Given the description of an element on the screen output the (x, y) to click on. 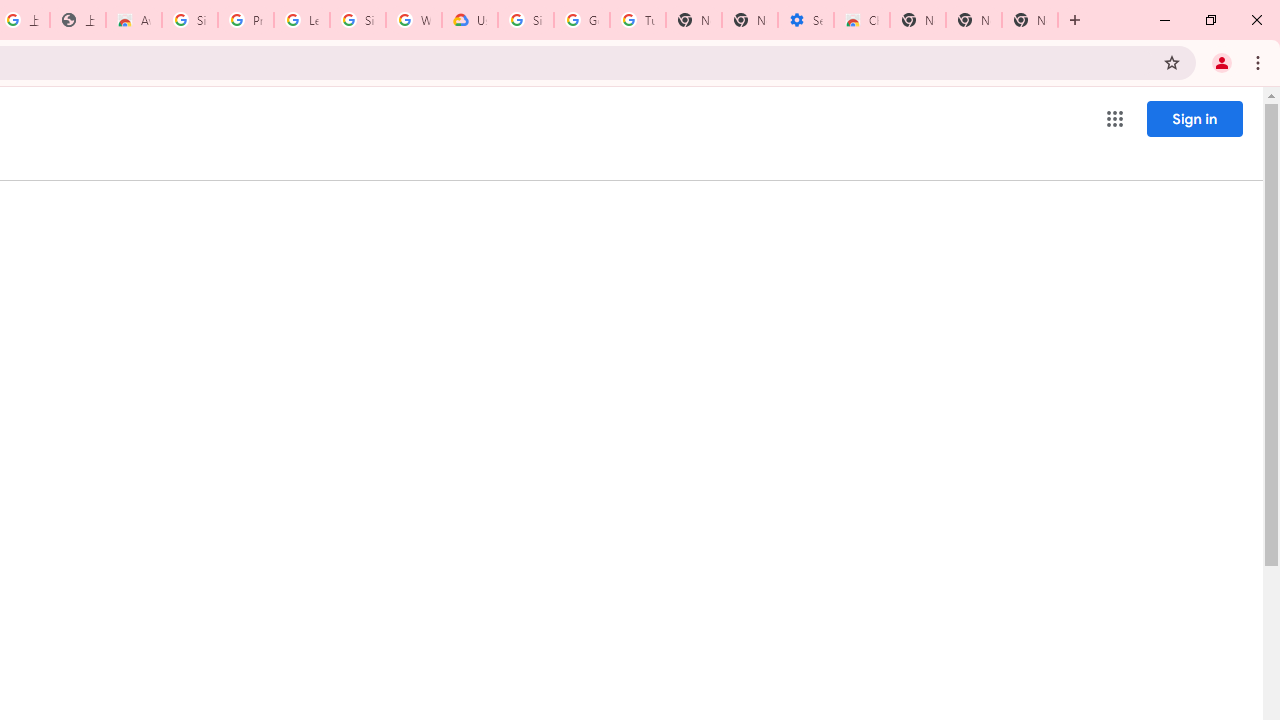
Chrome Web Store - Accessibility extensions (861, 20)
Sign in - Google Accounts (358, 20)
Sign in - Google Accounts (189, 20)
Awesome Screen Recorder & Screenshot - Chrome Web Store (134, 20)
Settings - Accessibility (806, 20)
Google Account Help (582, 20)
